Given the description of an element on the screen output the (x, y) to click on. 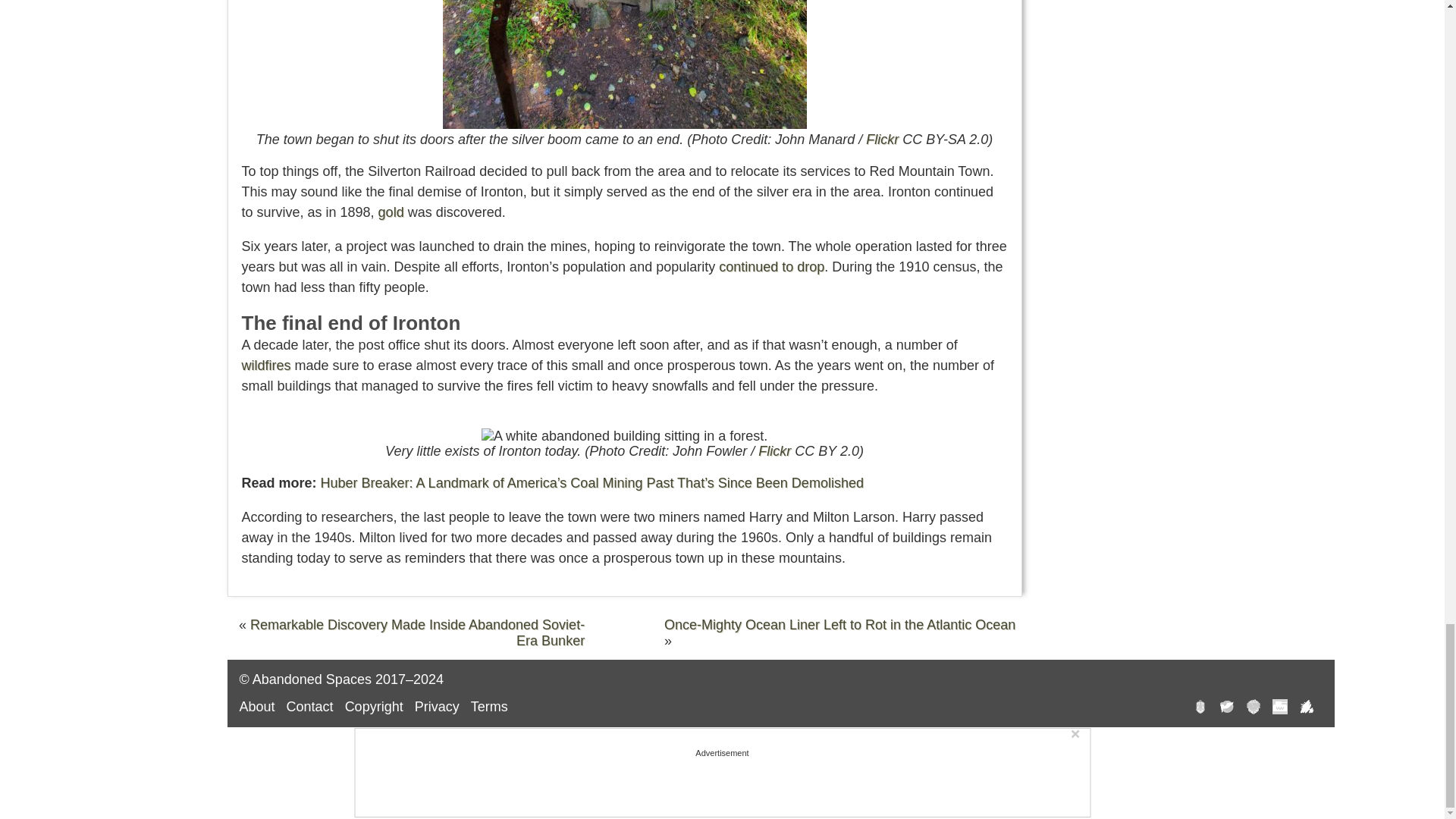
Flickr (774, 450)
gold (391, 212)
Remarkable Discovery Made Inside Abandoned Soviet-Era Bunker (417, 632)
wildfires (265, 365)
Flickr (882, 139)
continued to drop (771, 266)
